Given the description of an element on the screen output the (x, y) to click on. 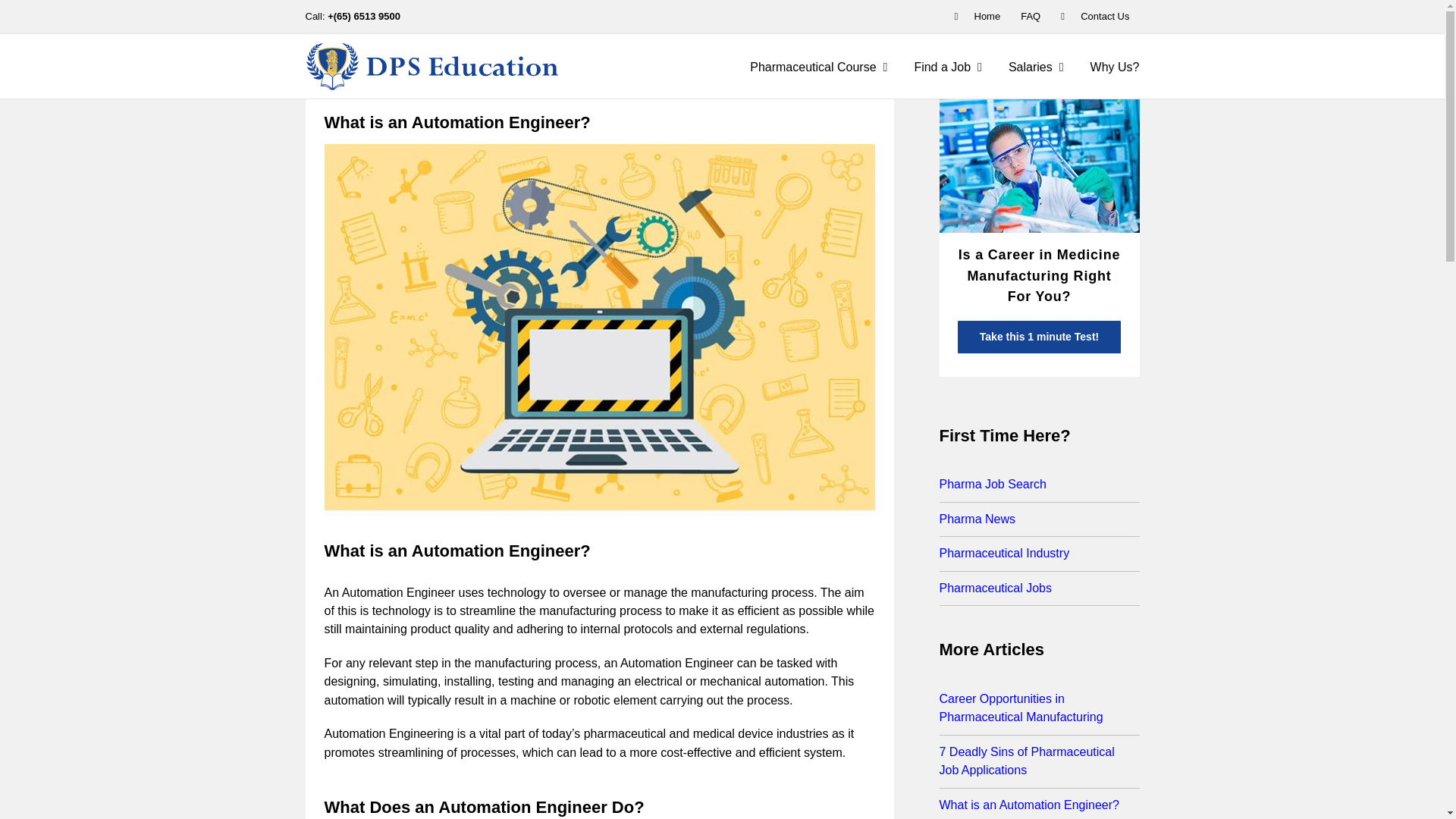
FAQ (1029, 16)
Contact Us (1094, 16)
Home (977, 16)
Pharmaceutical Course (817, 66)
